Given the description of an element on the screen output the (x, y) to click on. 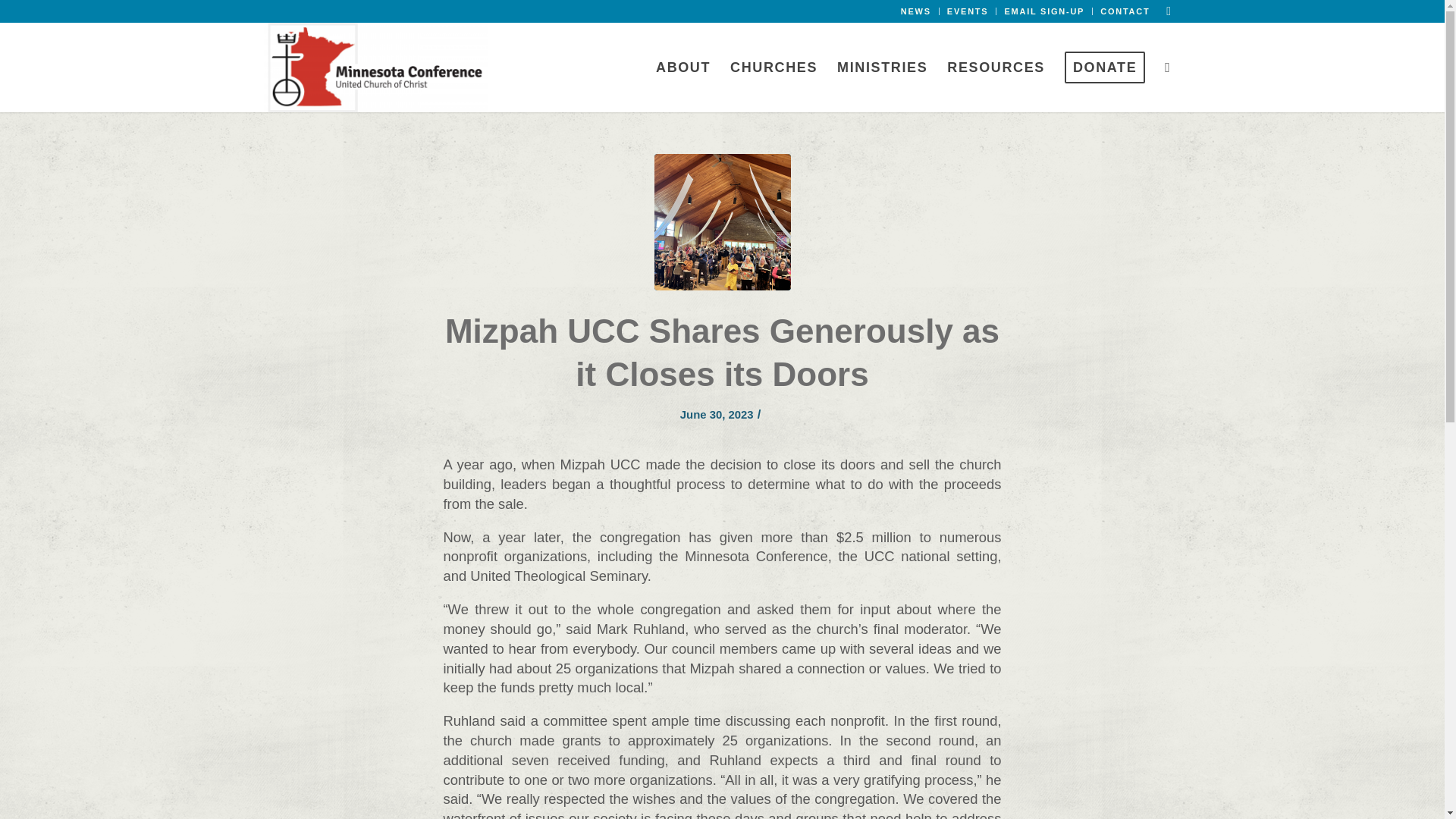
RESOURCES (995, 67)
EMAIL SIGN-UP (1044, 11)
NEWS (916, 11)
EVENTS (967, 11)
MINISTRIES (882, 67)
CHURCHES (773, 67)
DONATE (1104, 67)
CONTACT (1125, 11)
